Given the description of an element on the screen output the (x, y) to click on. 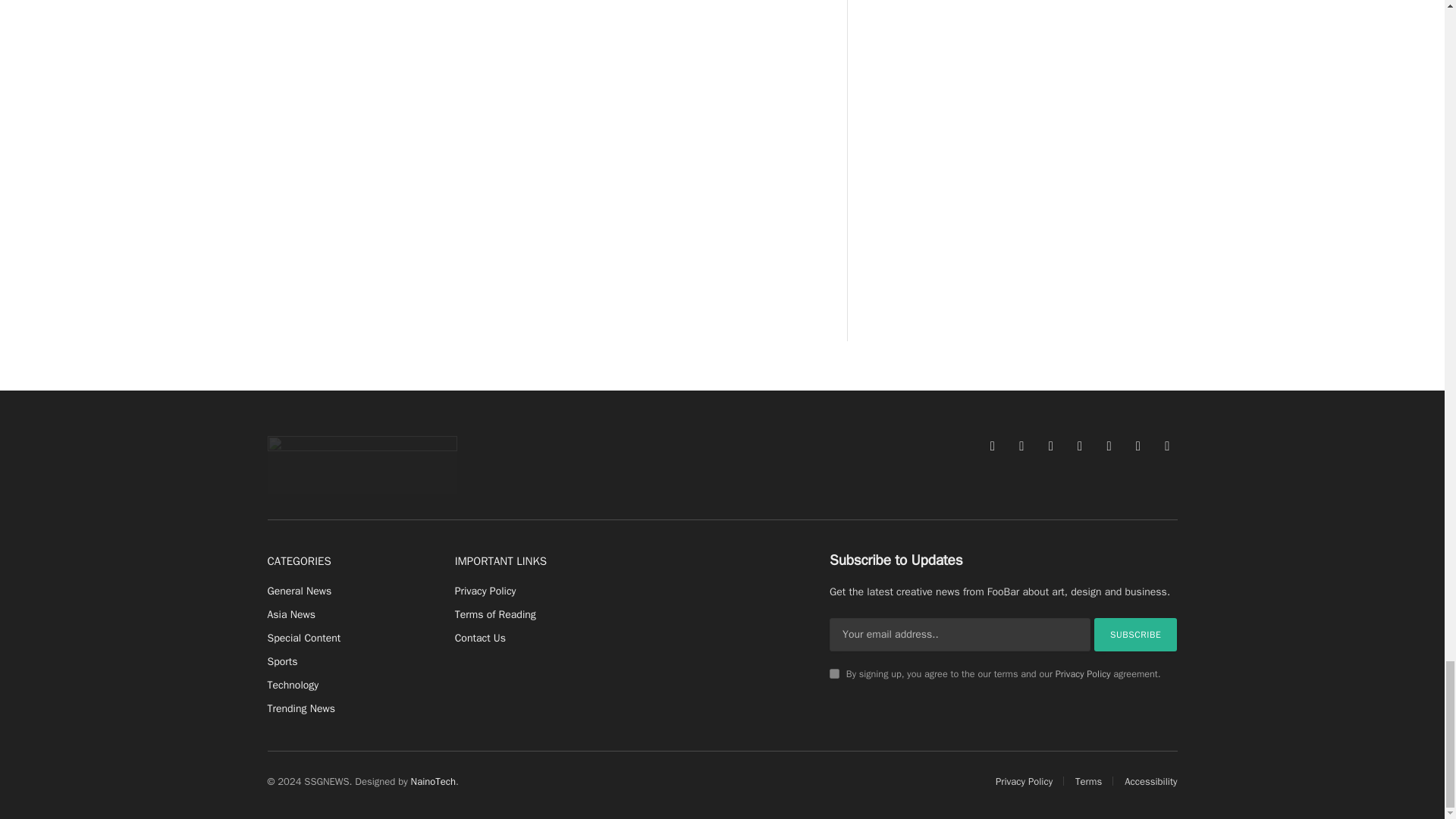
on (834, 673)
Subscribe (1135, 634)
